Given the description of an element on the screen output the (x, y) to click on. 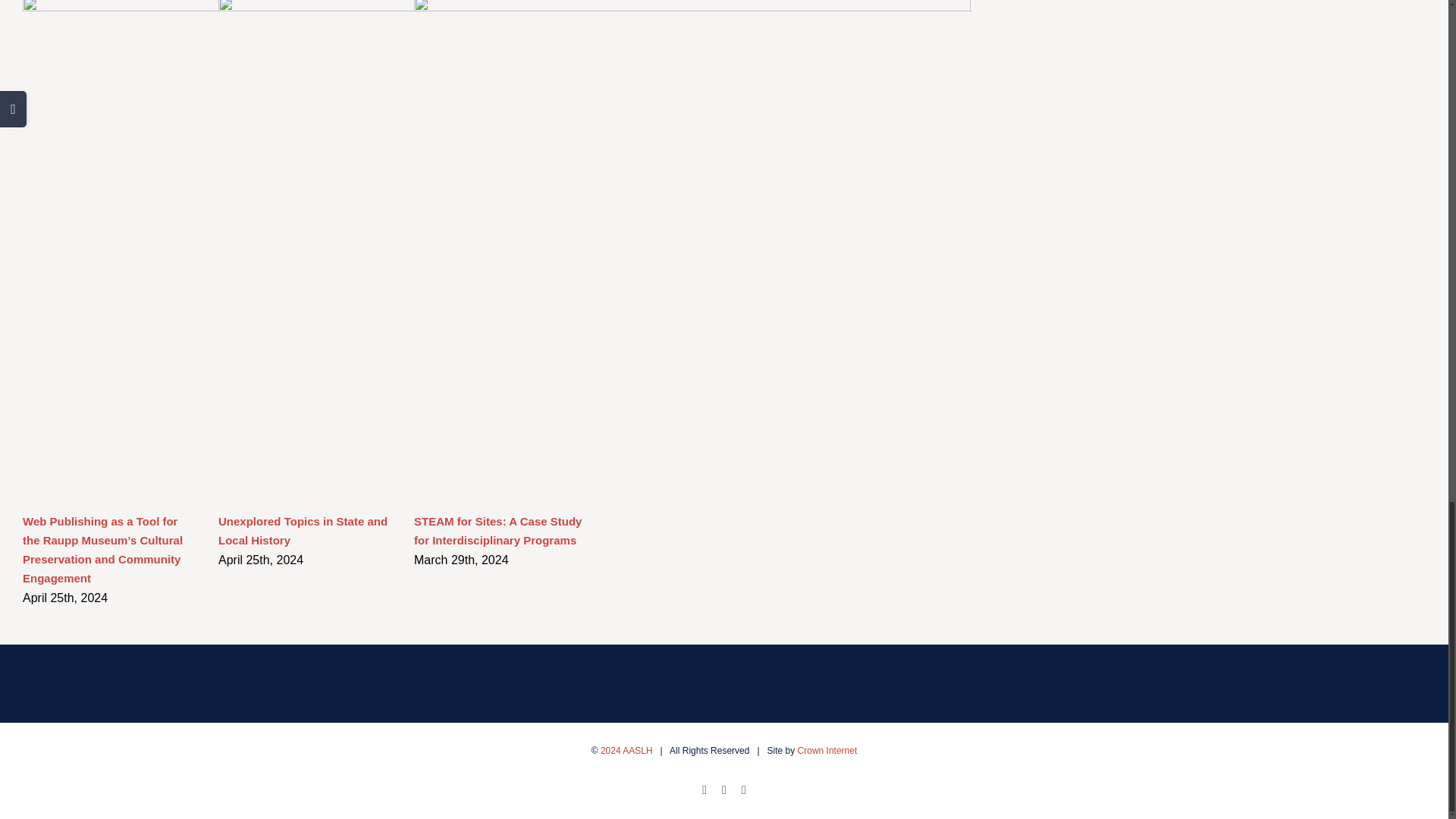
Unexplored Topics in State and Local History (302, 531)
STEAM for Sites: A Case Study for Interdisciplinary Programs (496, 531)
